Given the description of an element on the screen output the (x, y) to click on. 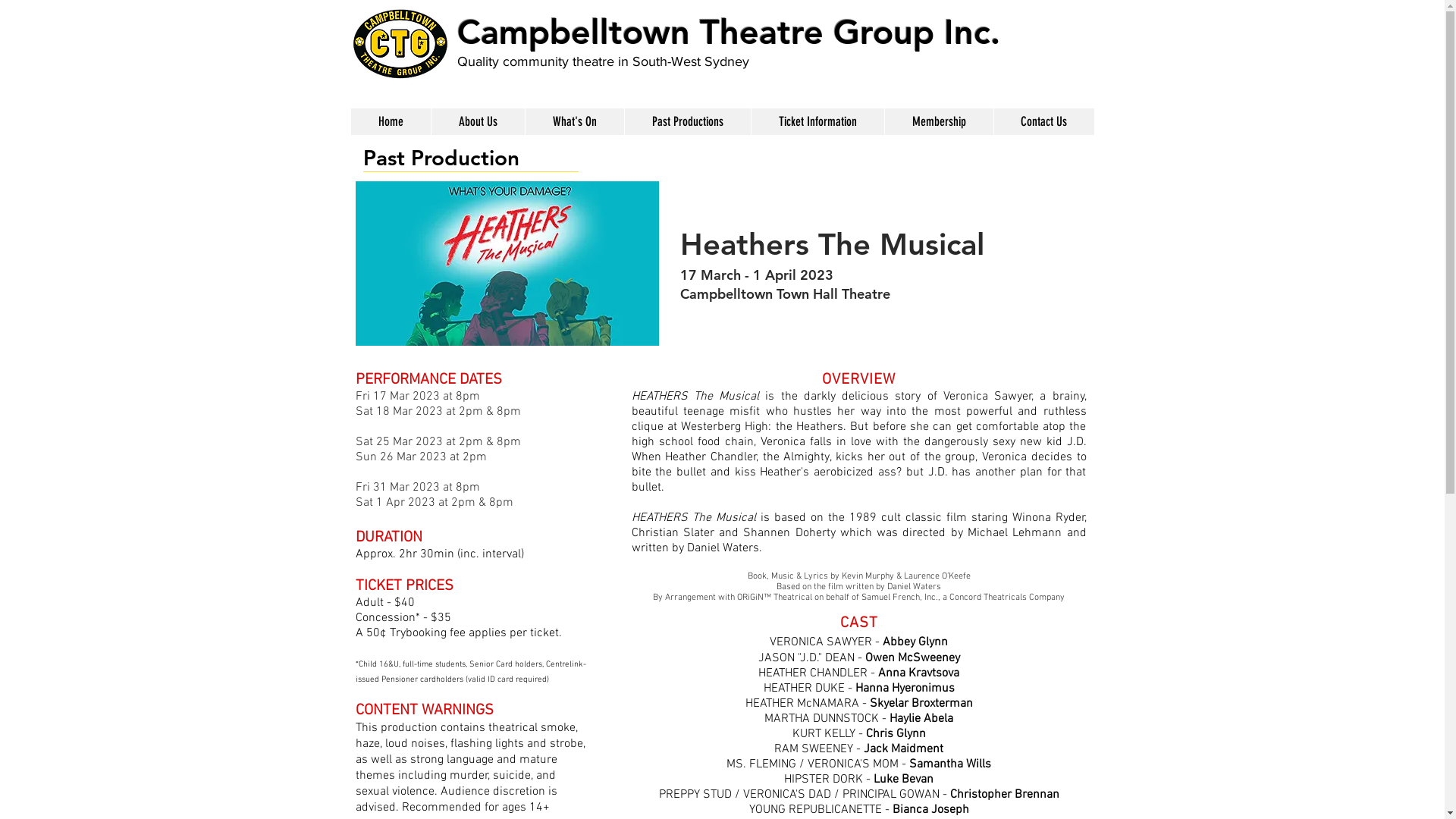
About Us Element type: text (477, 121)
Home Element type: text (389, 121)
Ticket Information Element type: text (817, 121)
